Given the description of an element on the screen output the (x, y) to click on. 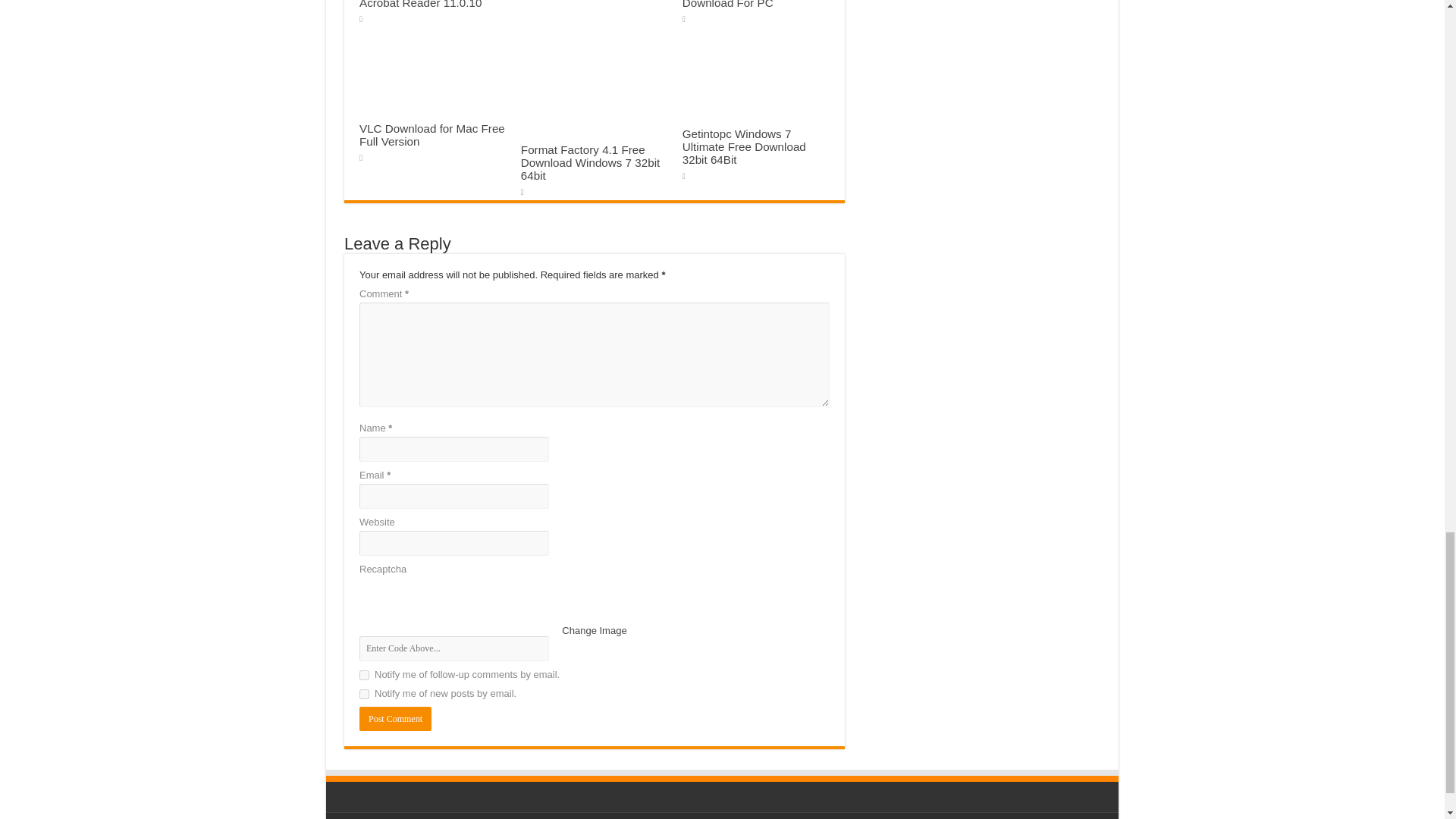
subscribe (364, 694)
subscribe (364, 675)
Post Comment (394, 718)
